Given the description of an element on the screen output the (x, y) to click on. 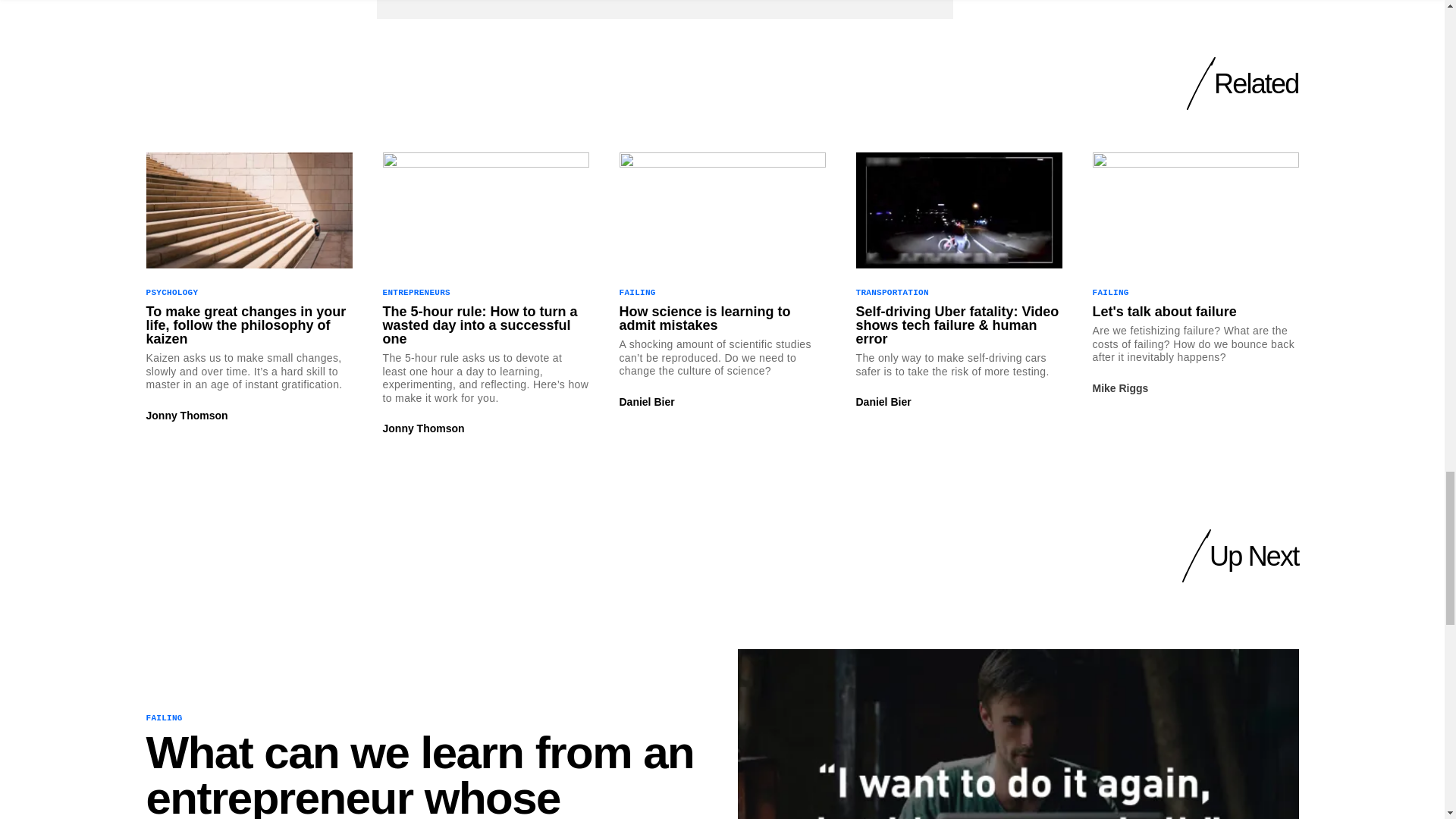
Jonny Thomson (422, 428)
Jonny Thomson (186, 415)
Daniel Bier (646, 401)
PSYCHOLOGY (171, 292)
How science is learning to admit mistakes (721, 318)
ENTREPRENEURS (415, 292)
FAILING (636, 292)
